Given the description of an element on the screen output the (x, y) to click on. 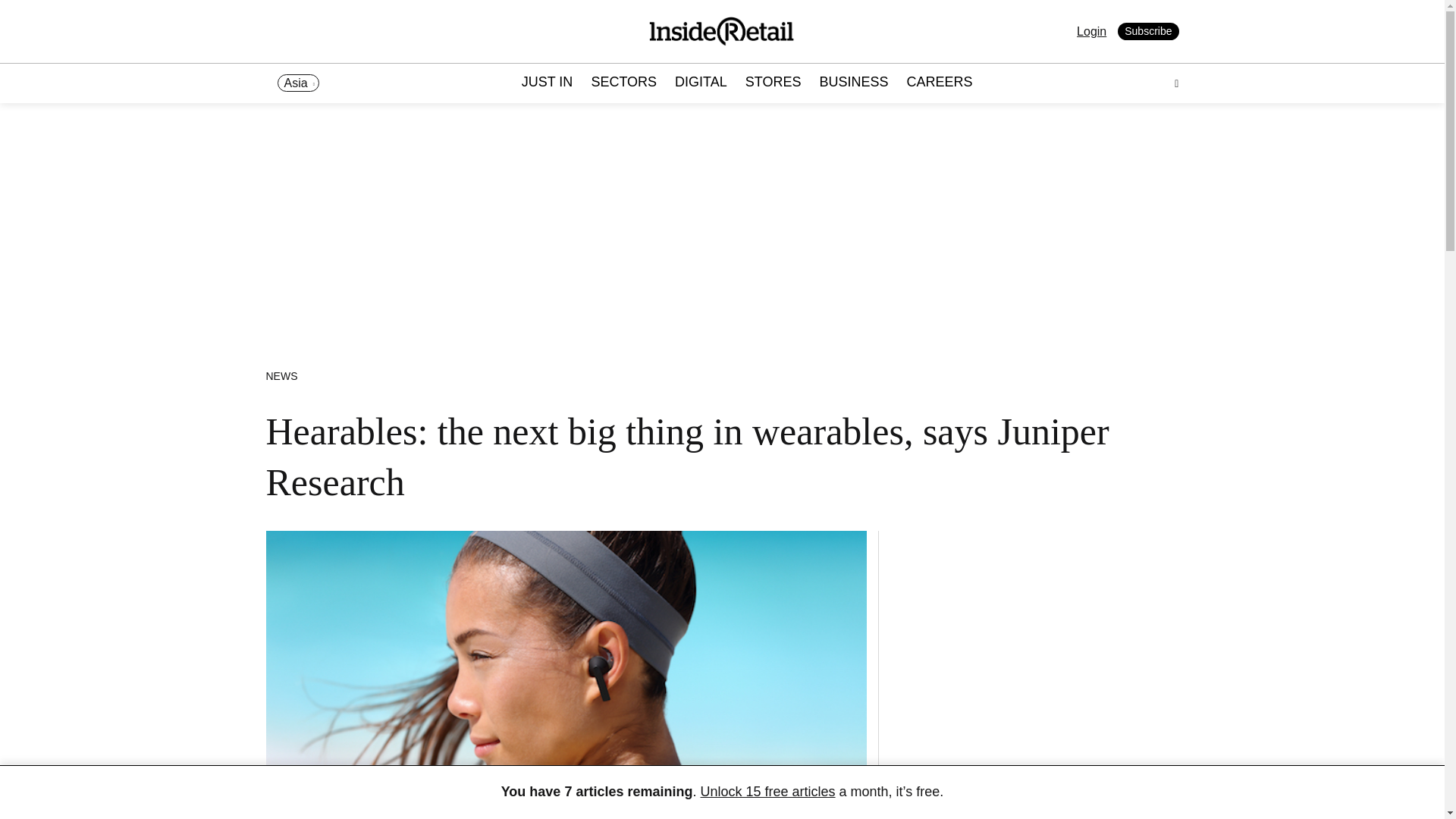
SECTORS (623, 83)
Subscribe (1147, 31)
Asia (298, 82)
Login (1091, 31)
DIGITAL (700, 83)
JUST IN (547, 83)
